Given the description of an element on the screen output the (x, y) to click on. 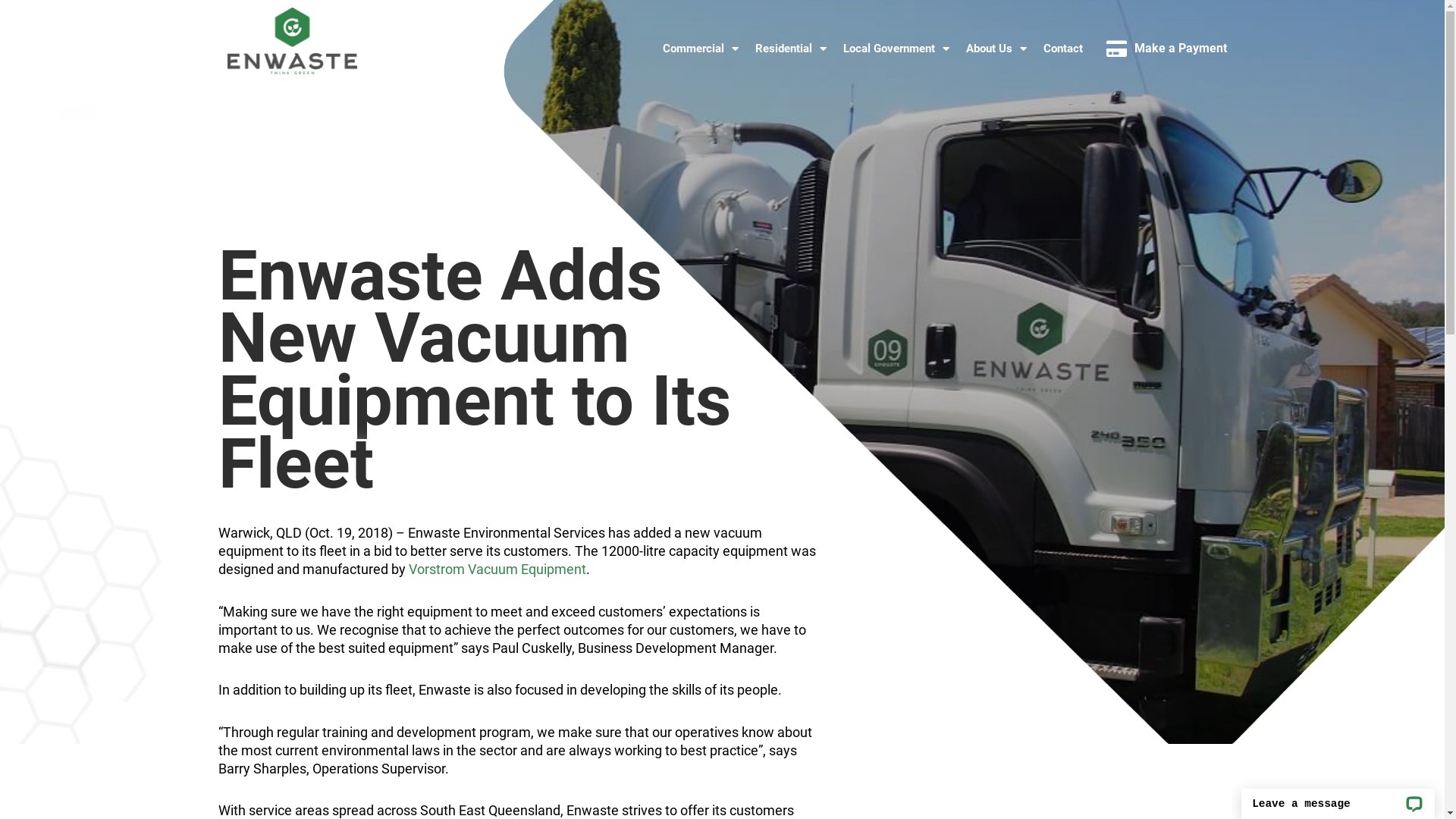
Contact Element type: text (1062, 48)
Commercial Element type: text (699, 48)
Residential Element type: text (790, 48)
Make a Payment Element type: text (1176, 48)
Vorstrom Vacuum Equipment Element type: text (496, 569)
About Us Element type: text (995, 48)
Local Government Element type: text (895, 48)
